Given the description of an element on the screen output the (x, y) to click on. 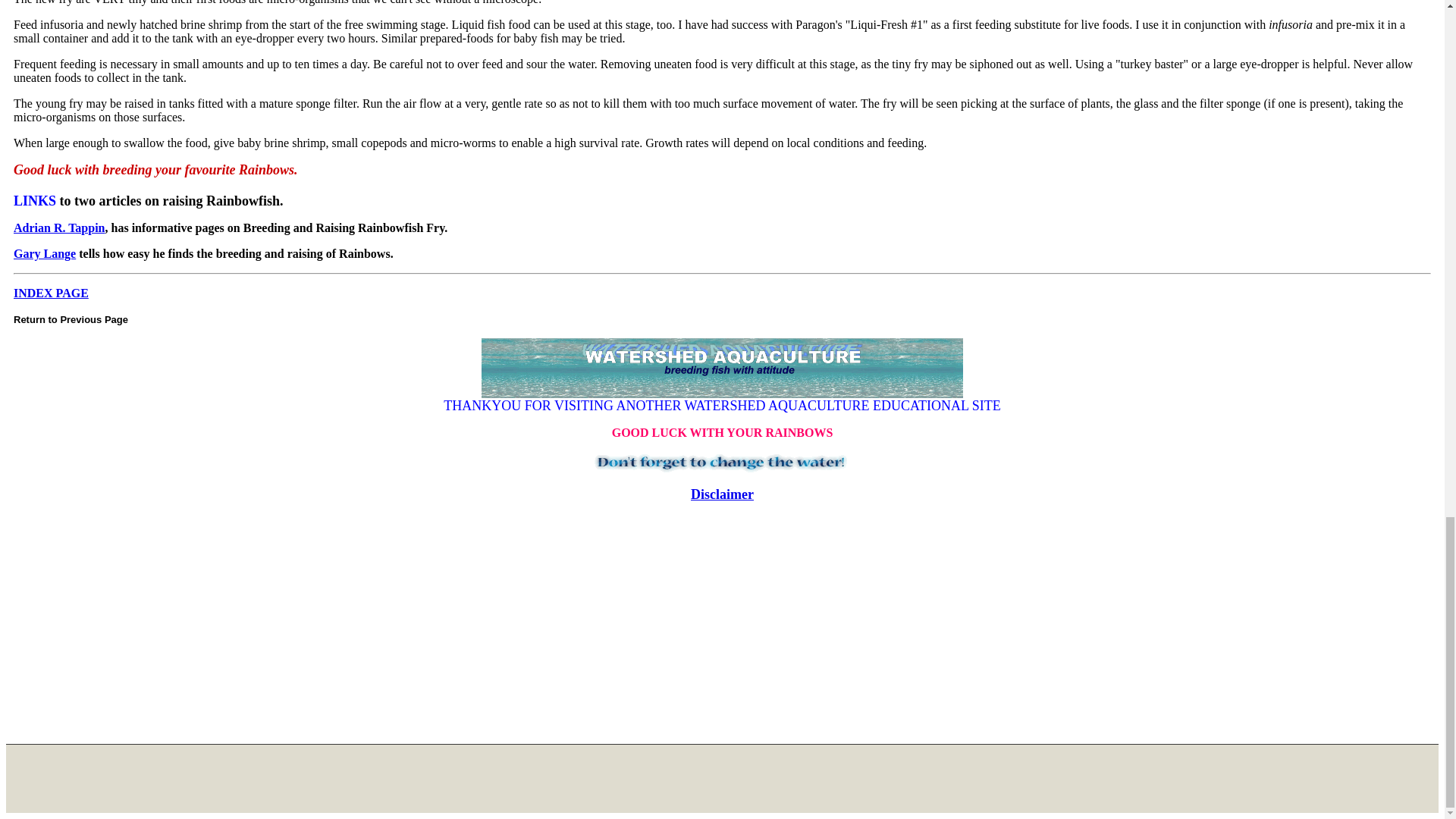
Gary Lange (44, 253)
Disclaimer (722, 494)
INDEX PAGE (50, 292)
Return to Previous Page (70, 318)
Adrian R. Tappin (58, 227)
